Given the description of an element on the screen output the (x, y) to click on. 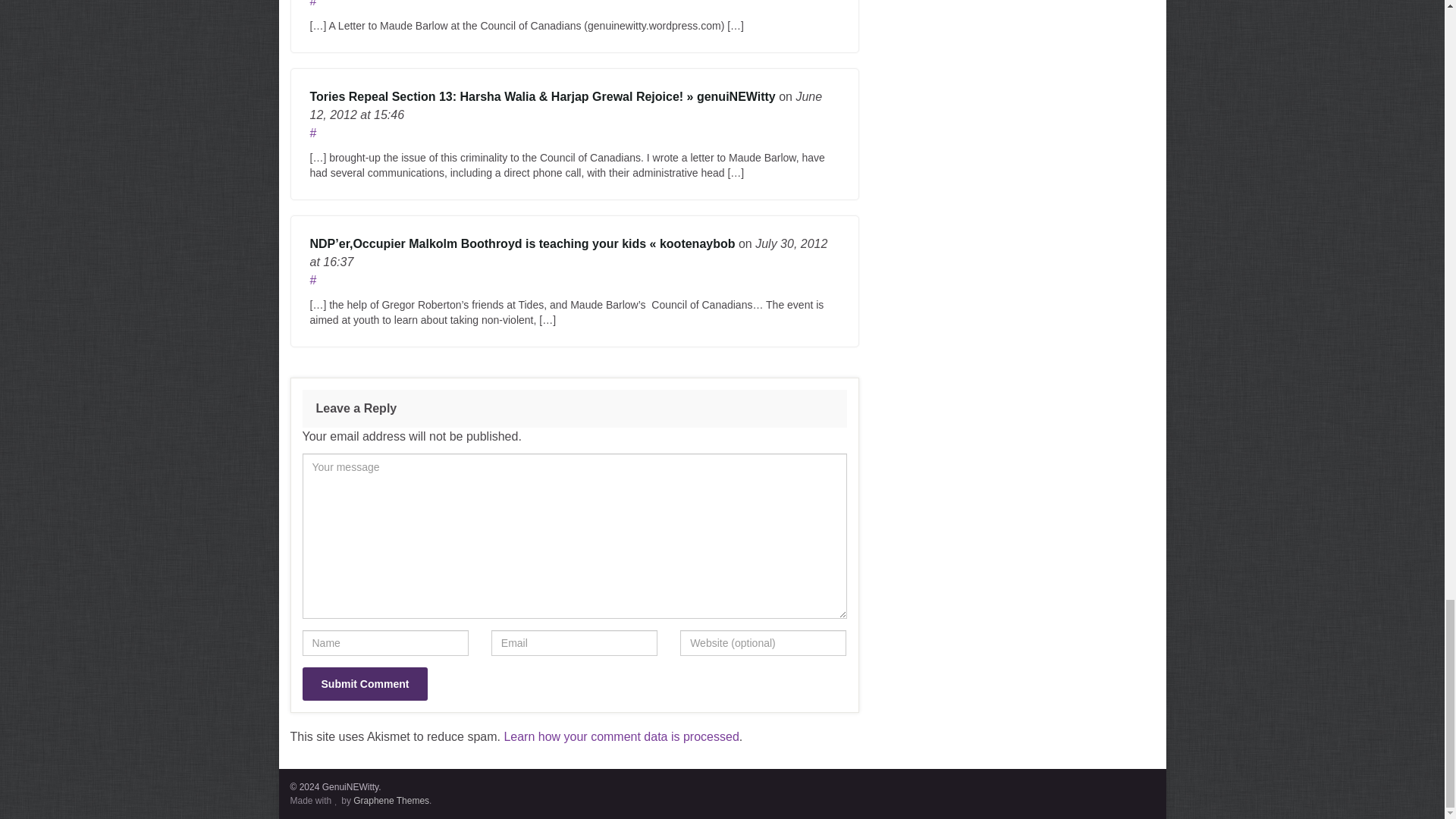
Submit Comment (364, 684)
